Given the description of an element on the screen output the (x, y) to click on. 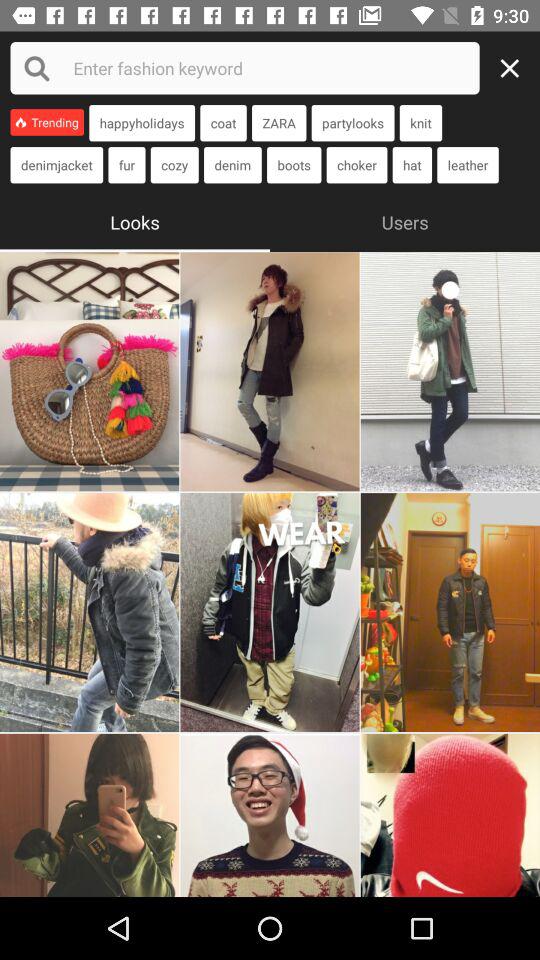
launch the icon to the right of looks icon (405, 220)
